Given the description of an element on the screen output the (x, y) to click on. 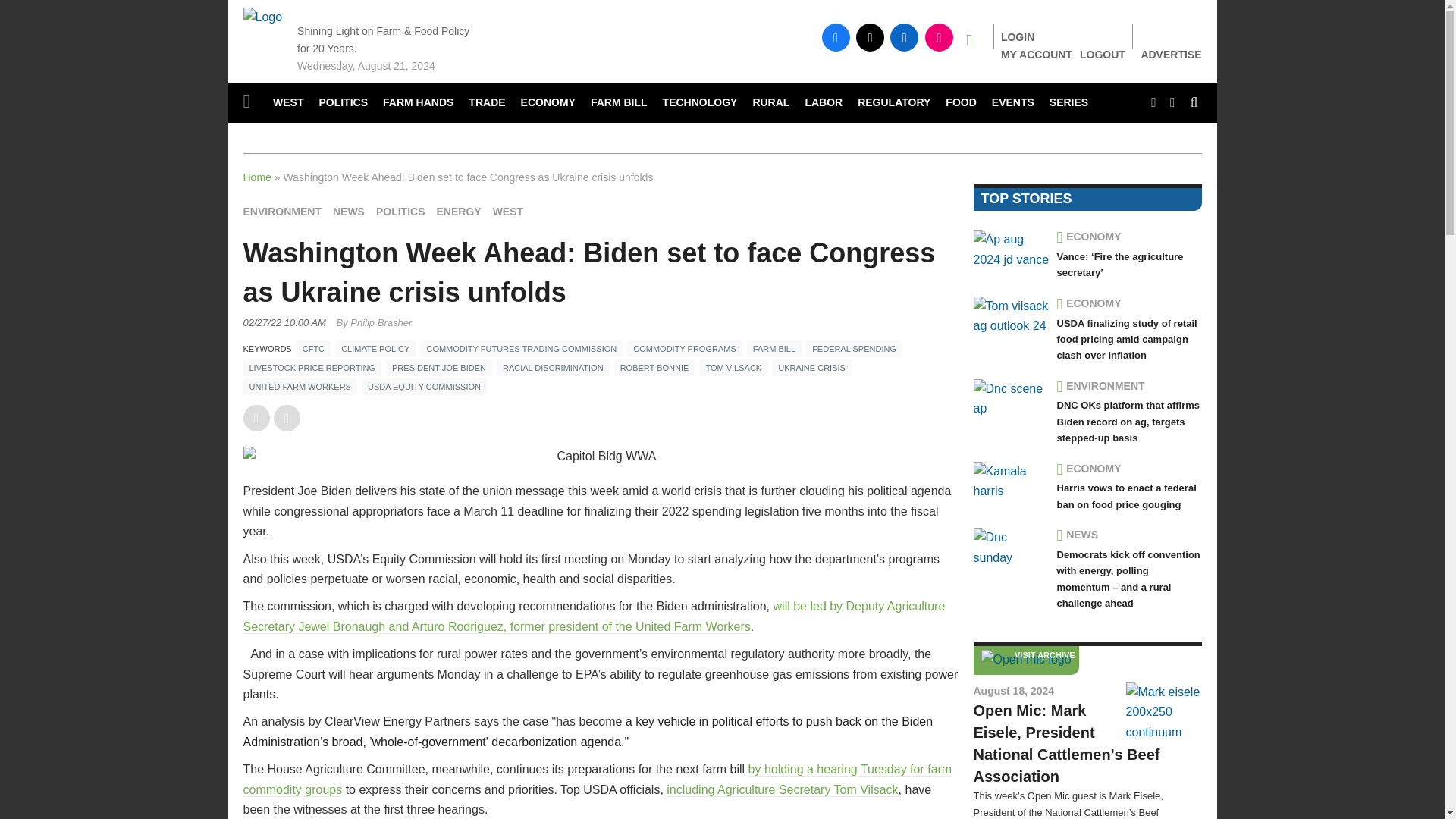
FOOD (960, 102)
RURAL (770, 102)
EVENTS (1013, 102)
LOGIN (1017, 37)
ADVERTISE (1170, 54)
TRADE (486, 102)
LABOR (823, 102)
LOGOUT (1102, 54)
WEST (287, 102)
TECHNOLOGY (700, 102)
